Given the description of an element on the screen output the (x, y) to click on. 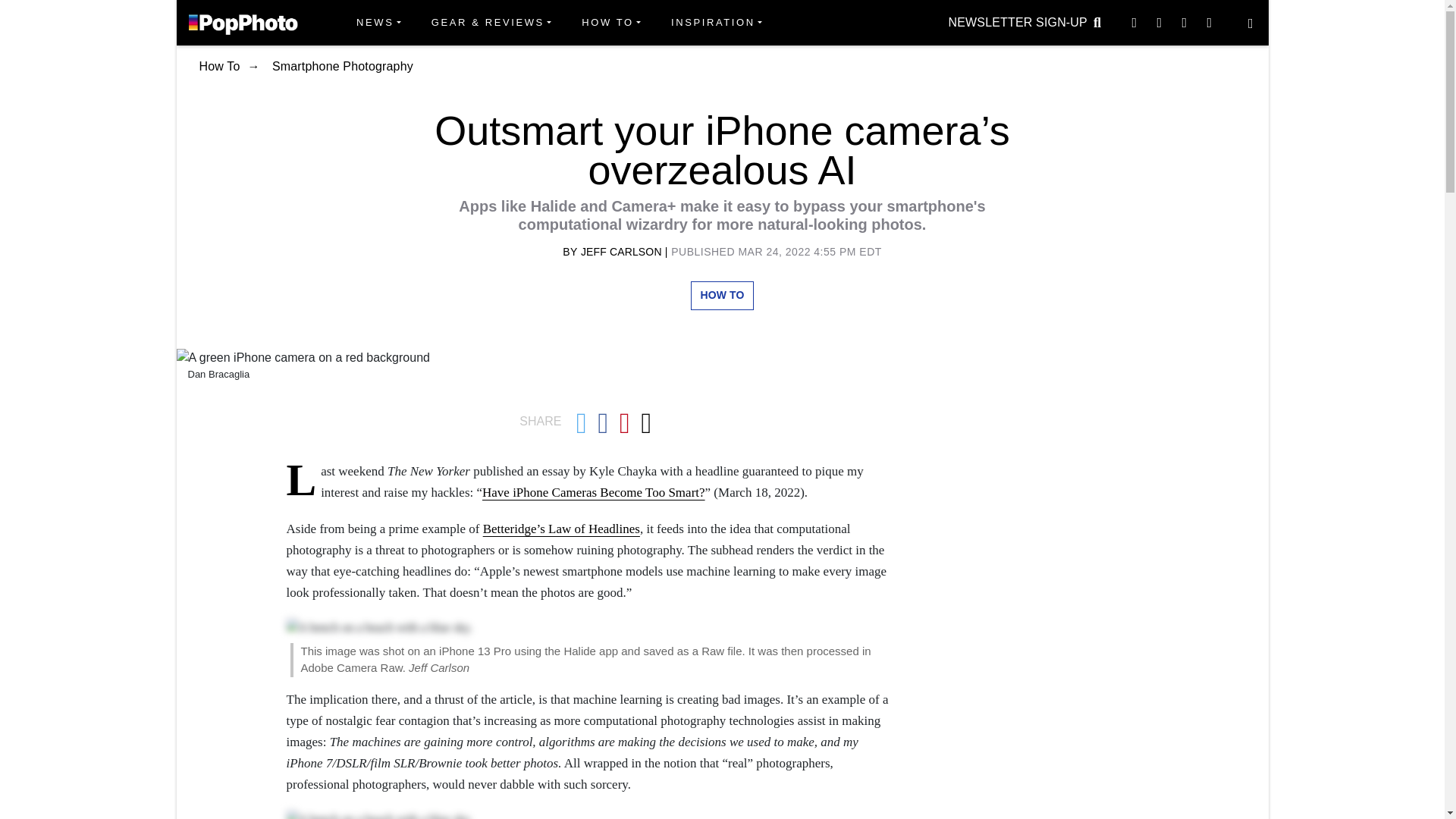
How To (610, 22)
NEWSLETTER SIGN-UP (1018, 22)
News (378, 22)
Popular Photography (242, 22)
Inspiration (716, 22)
HOW TO (610, 22)
NEWS (378, 22)
INSPIRATION (716, 22)
